Given the description of an element on the screen output the (x, y) to click on. 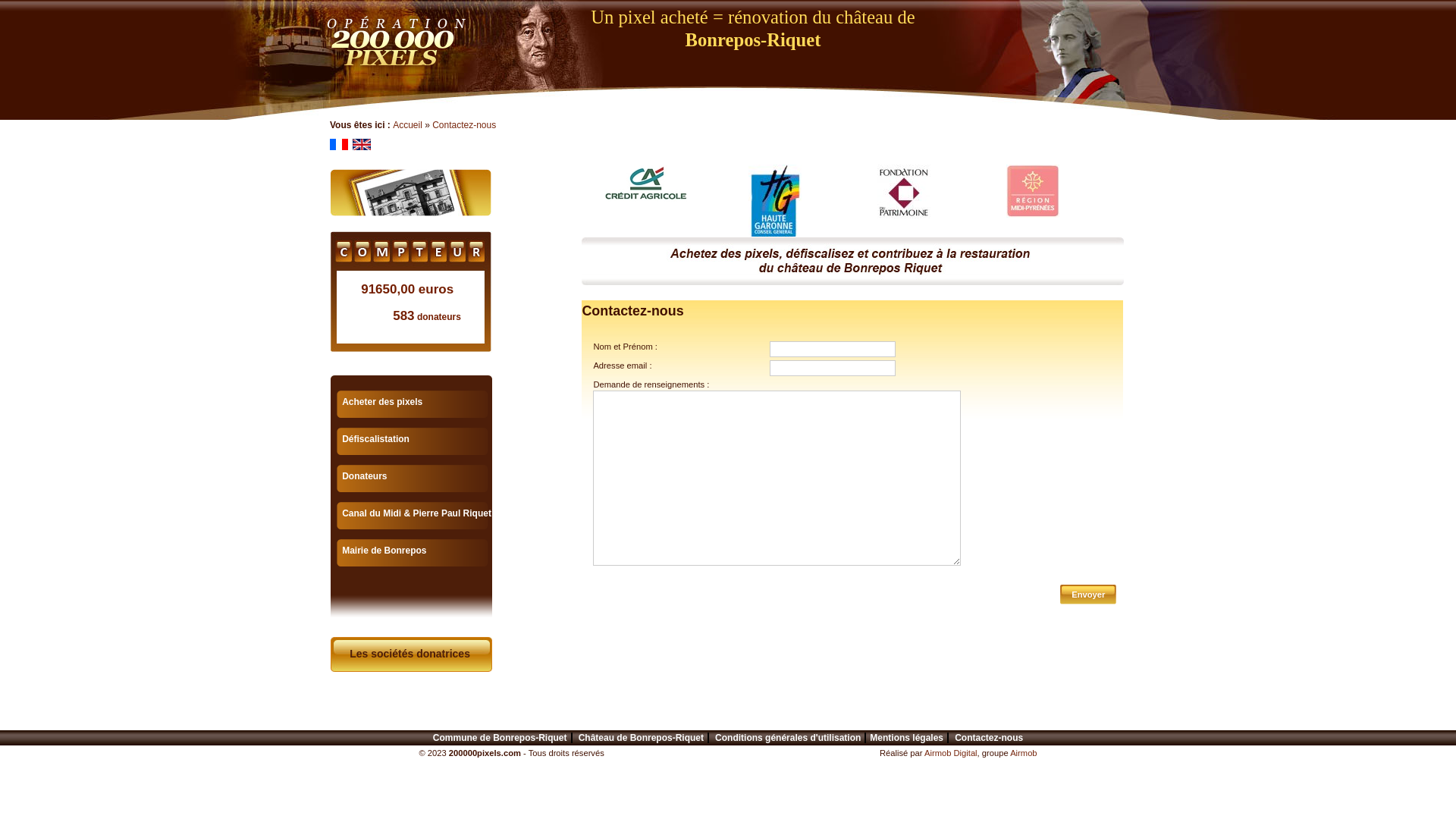
Airmob Element type: text (1023, 752)
Commune de Bonrepos-Riquet Element type: text (500, 737)
Accueil Element type: text (407, 124)
Contactez-nous Element type: text (463, 124)
Mairie de Bonrepos Element type: text (384, 550)
Contactez-nous Element type: text (988, 737)
 200000 pixels  Element type: hover (852, 261)
Envoyer Element type: text (1088, 593)
Airmob Digital Element type: text (950, 752)
 200000 pixels  Element type: hover (410, 192)
 English  Element type: hover (361, 144)
 Fondation du patrimoine  Element type: hover (903, 191)
Canal du Midi & Pierre Paul Riquet Element type: text (416, 513)
